Given the description of an element on the screen output the (x, y) to click on. 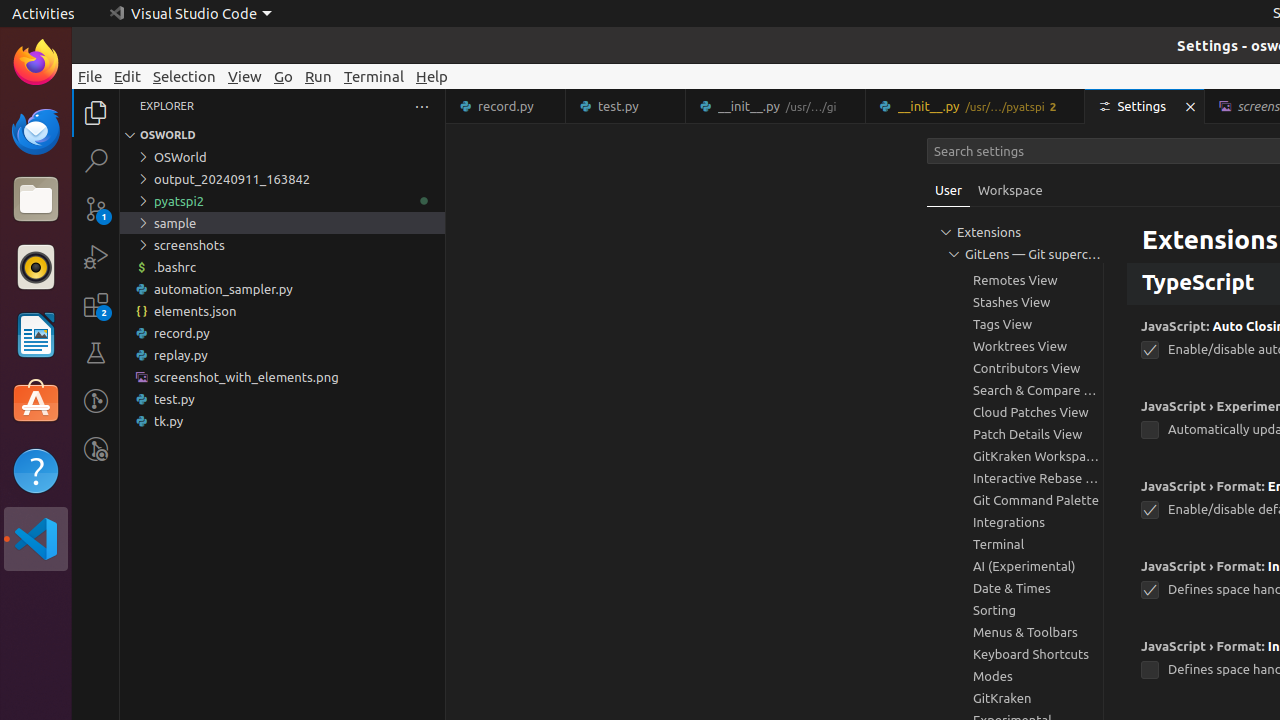
Search (Ctrl+Shift+F) Element type: page-tab (96, 160)
GitKraken Workspaces View, group Element type: tree-item (1015, 456)
simpleBrowser.focusLockIndicator.enabled Element type: check-box (1150, 228)
OSWorld Element type: tree-item (282, 157)
